Given the description of an element on the screen output the (x, y) to click on. 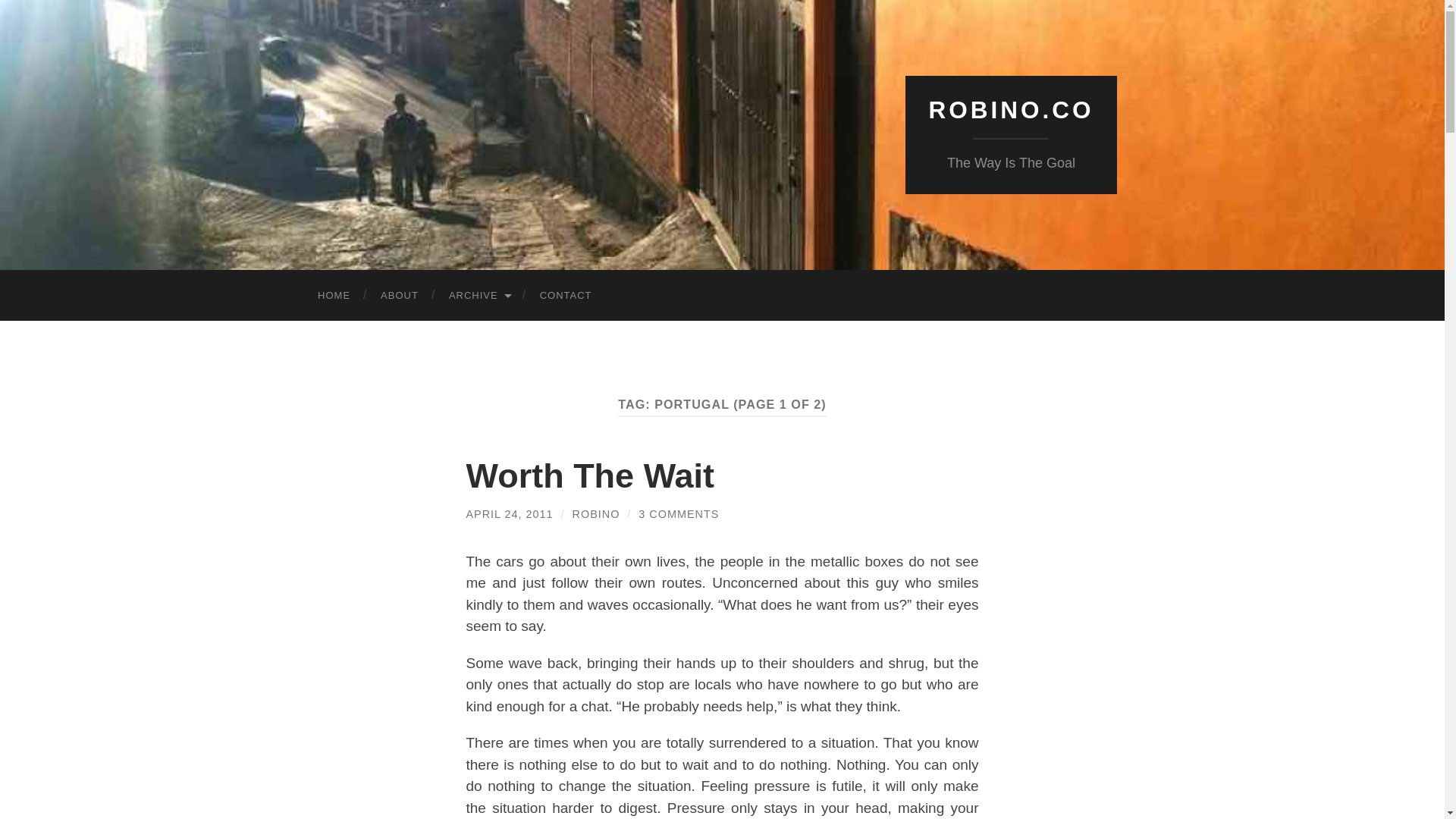
Posts by robino (596, 513)
ARCHIVE (478, 295)
Worth The Wait (589, 475)
CONTACT (565, 295)
ROBINO (596, 513)
HOME (333, 295)
ABOUT (399, 295)
ROBINO.CO (1010, 109)
APRIL 24, 2011 (509, 513)
3 COMMENTS (679, 513)
